Given the description of an element on the screen output the (x, y) to click on. 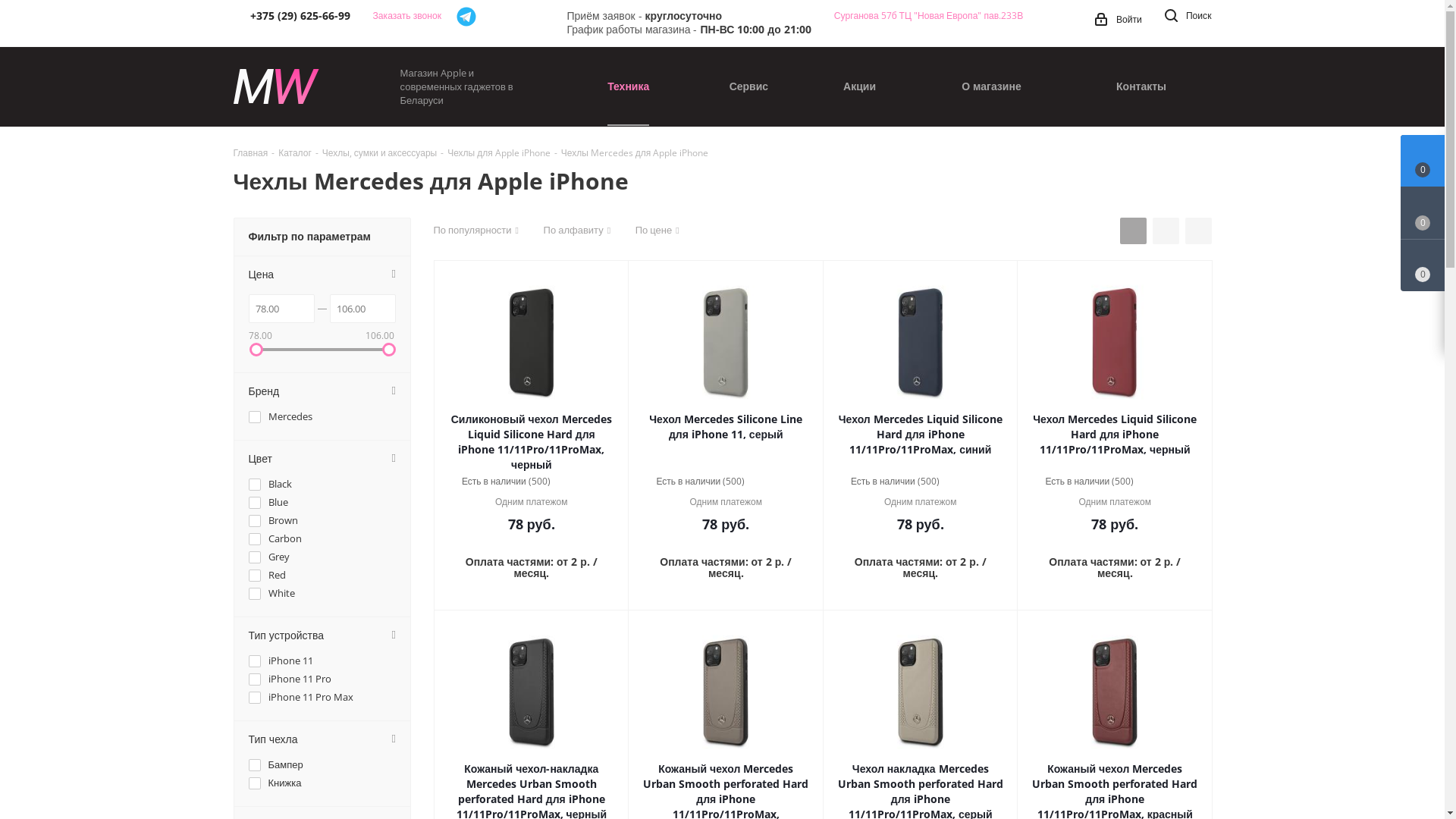
1 Element type: hover (954, 481)
4 Element type: hover (988, 481)
Y Element type: text (4, 4)
4 Element type: hover (1182, 481)
3 Element type: hover (976, 481)
1 Element type: hover (565, 481)
3 Element type: hover (587, 481)
2 Element type: hover (1159, 481)
5 Element type: hover (1193, 481)
4 Element type: hover (599, 481)
5 Element type: hover (610, 481)
1 Element type: hover (759, 481)
4 Element type: hover (793, 481)
2 Element type: hover (770, 481)
3 Element type: hover (1170, 481)
5 Element type: hover (804, 481)
2 Element type: hover (576, 481)
3 Element type: hover (781, 481)
2 Element type: hover (965, 481)
5 Element type: hover (999, 481)
1 Element type: hover (1148, 481)
